Given the description of an element on the screen output the (x, y) to click on. 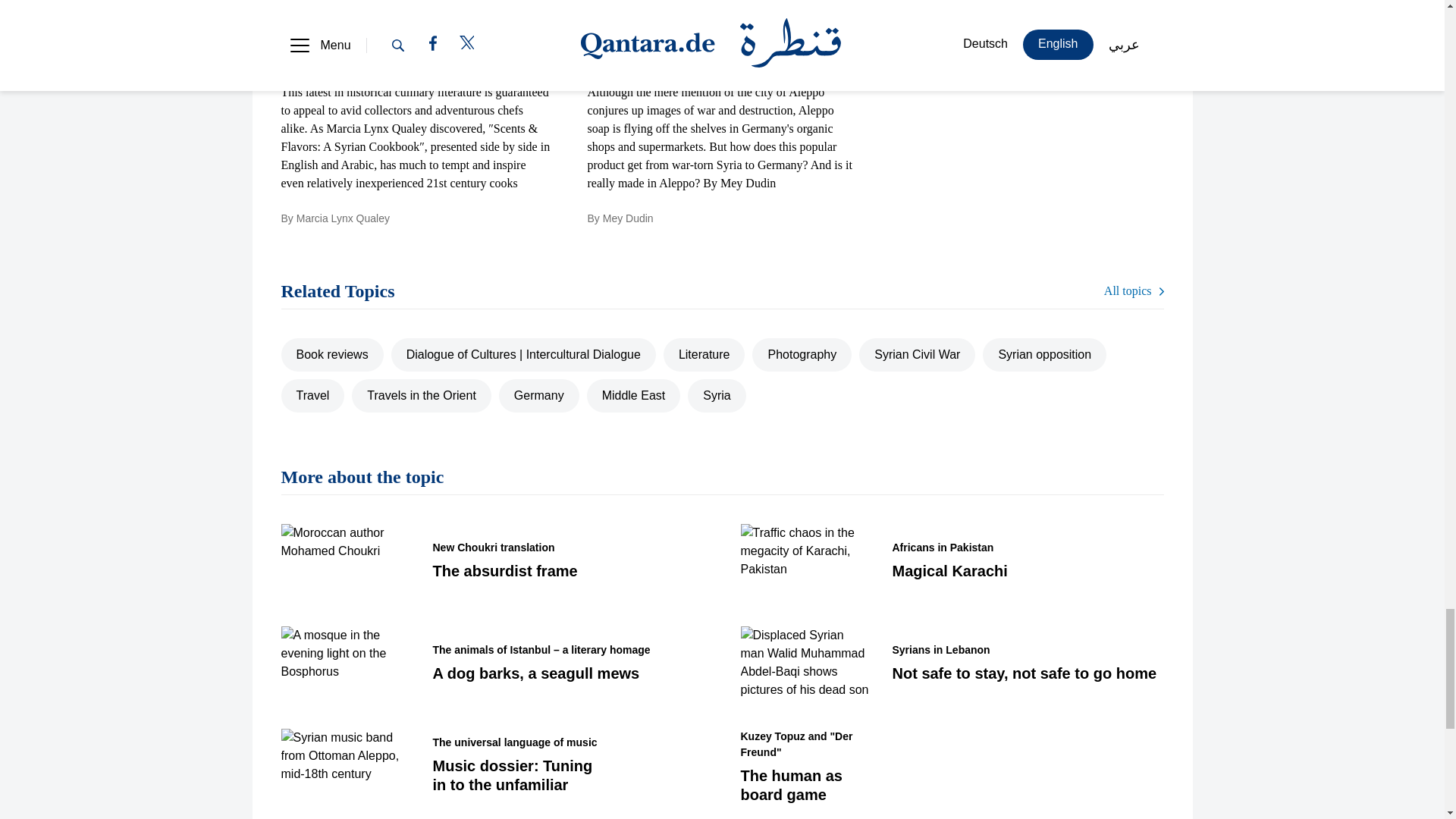
Syrian music band from Ottoman Aleppo, mid-18th century (345, 764)
Book reviews (331, 354)
Traffic chaos in the megacity of Karachi, Pakistan (804, 560)
Moroccan author Mohamed Choukri (345, 560)
Photography (801, 354)
All topics (1133, 291)
Literature (704, 354)
